Given the description of an element on the screen output the (x, y) to click on. 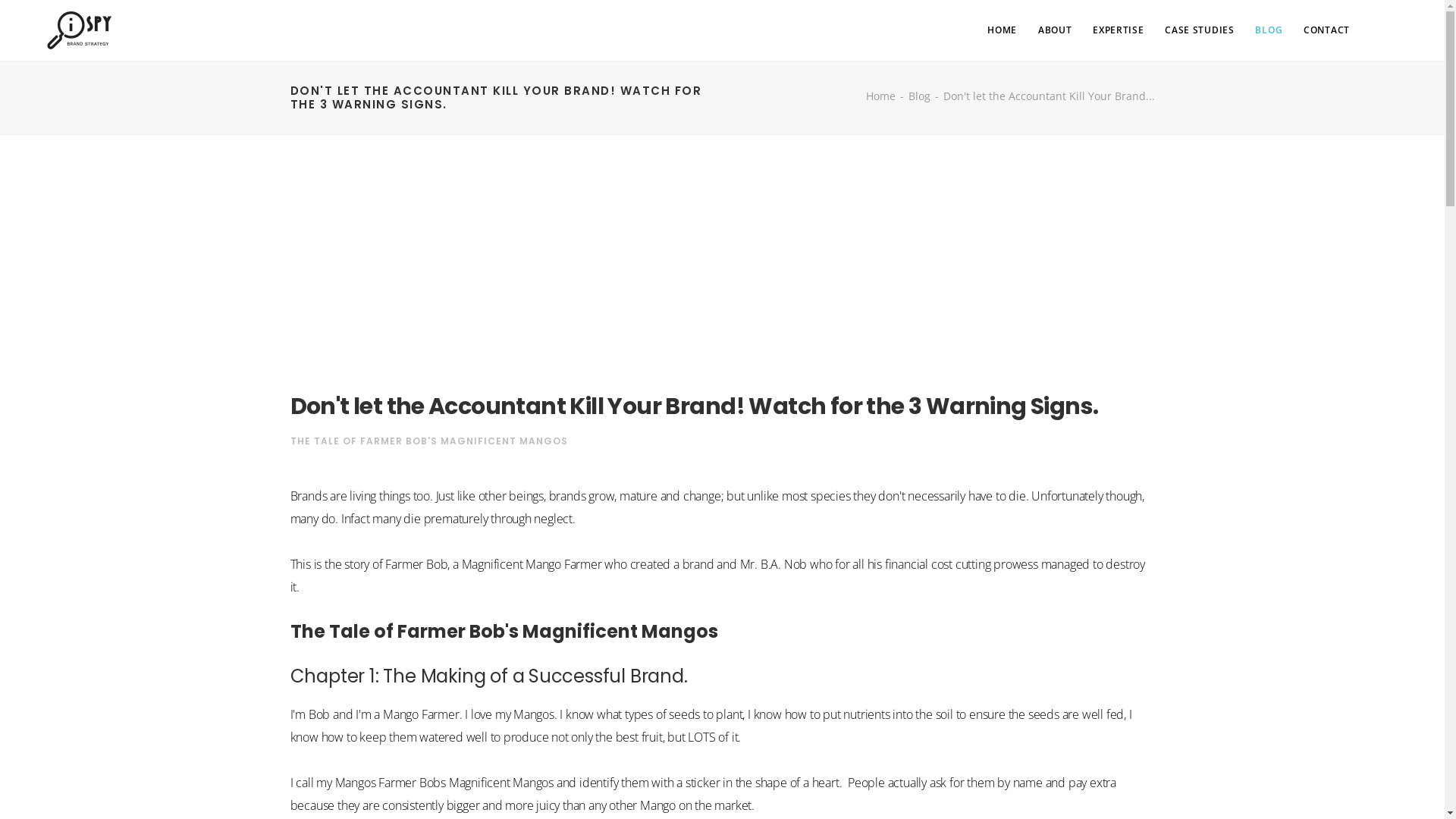
Blog Element type: text (919, 95)
HOME Element type: text (1001, 30)
CASE STUDIES Element type: text (1198, 30)
ABOUT Element type: text (1055, 30)
EXPERTISE Element type: text (1117, 30)
CONTACT Element type: text (1326, 30)
Home Element type: text (880, 95)
BLOG Element type: text (1268, 30)
